Given the description of an element on the screen output the (x, y) to click on. 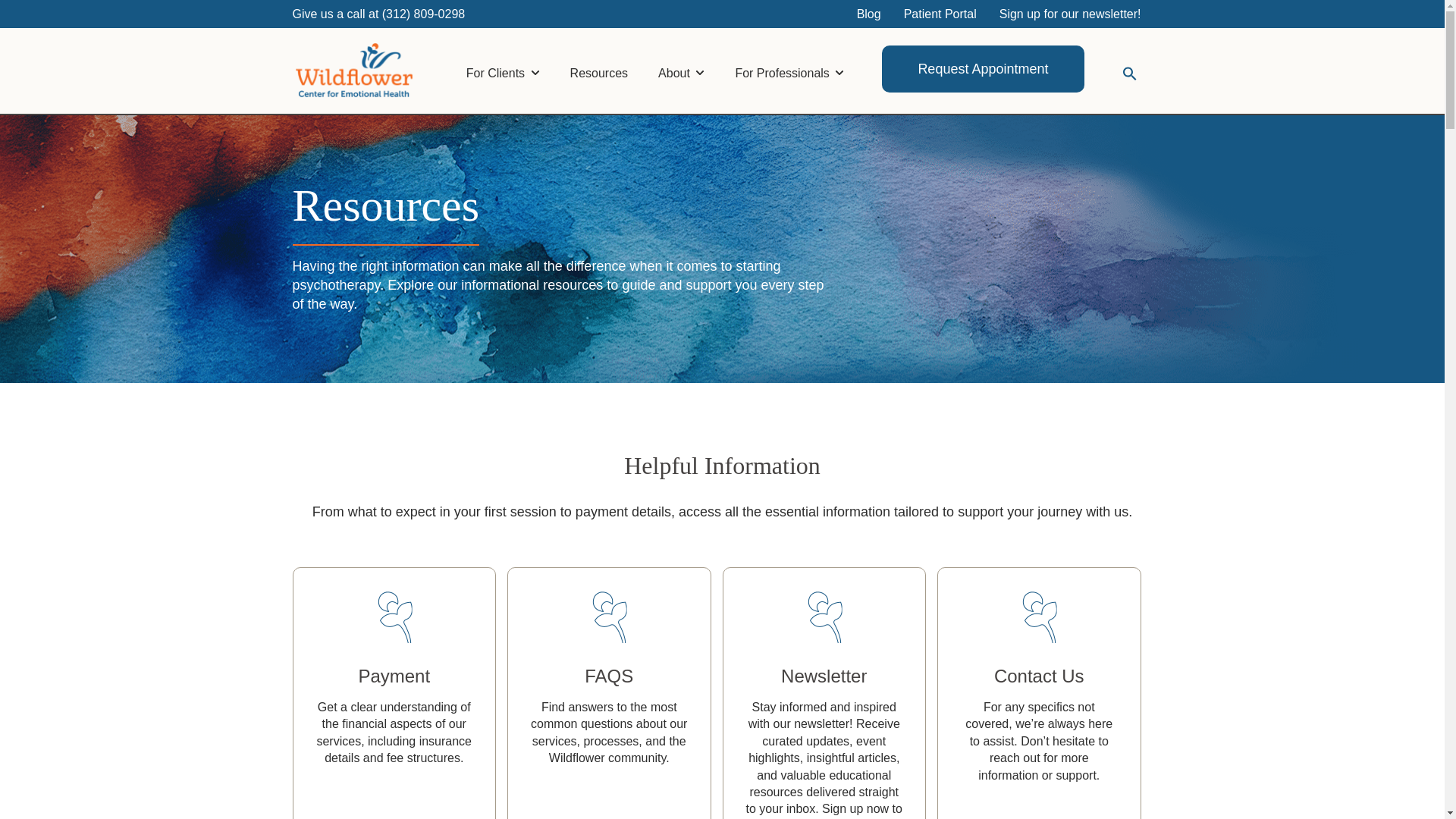
About (681, 68)
Blog (868, 13)
Resources (598, 68)
Sign up for our newsletter! (1070, 13)
For Clients (502, 68)
Patient Portal (940, 13)
